Given the description of an element on the screen output the (x, y) to click on. 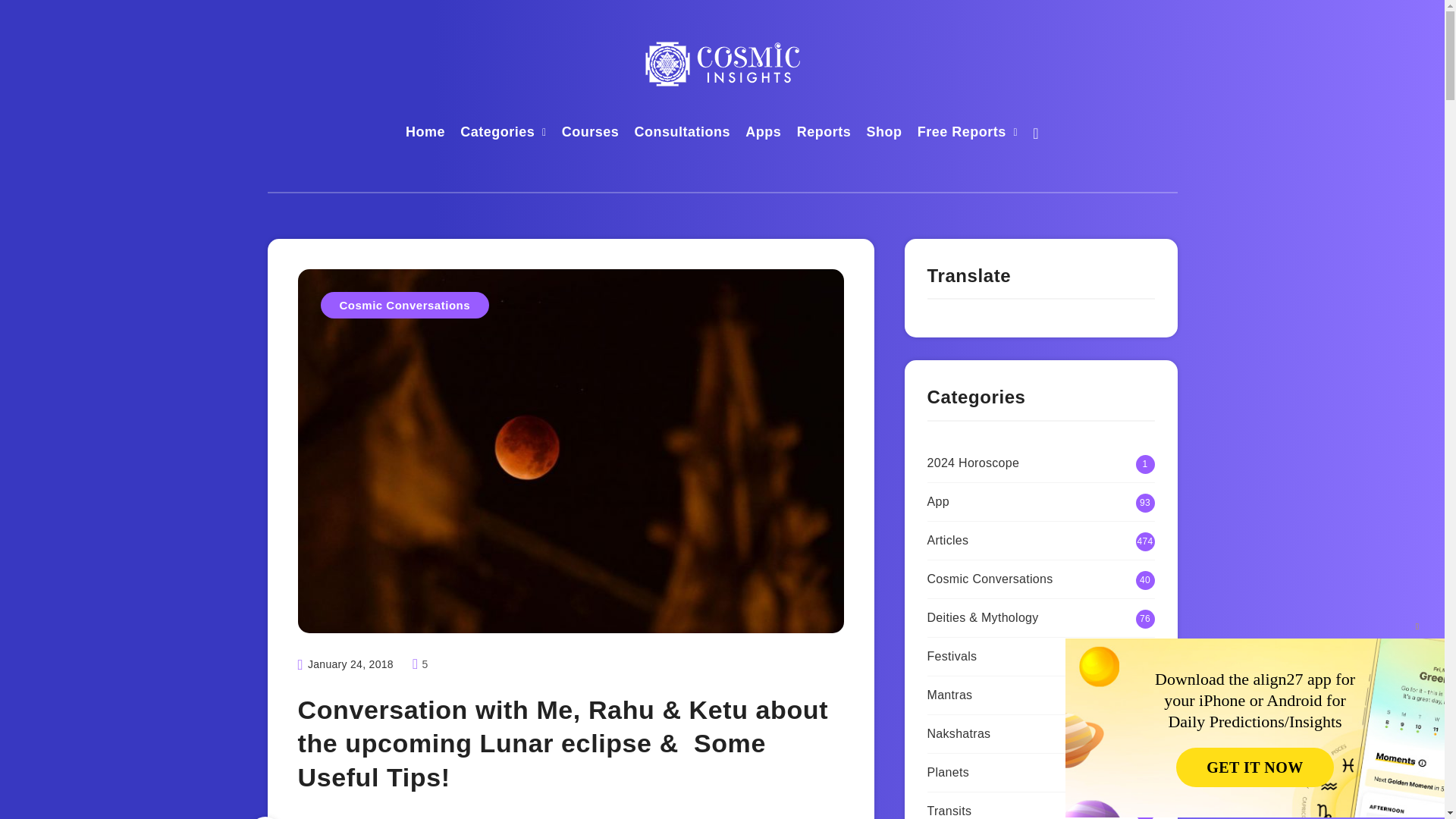
5 (420, 664)
Home (425, 133)
Apps (762, 133)
Courses (591, 133)
Free Reports (961, 133)
Consultations (682, 133)
Cosmic Conversations (404, 304)
Go to comments (420, 664)
Reports (823, 133)
Shop (883, 133)
Categories (497, 133)
